Given the description of an element on the screen output the (x, y) to click on. 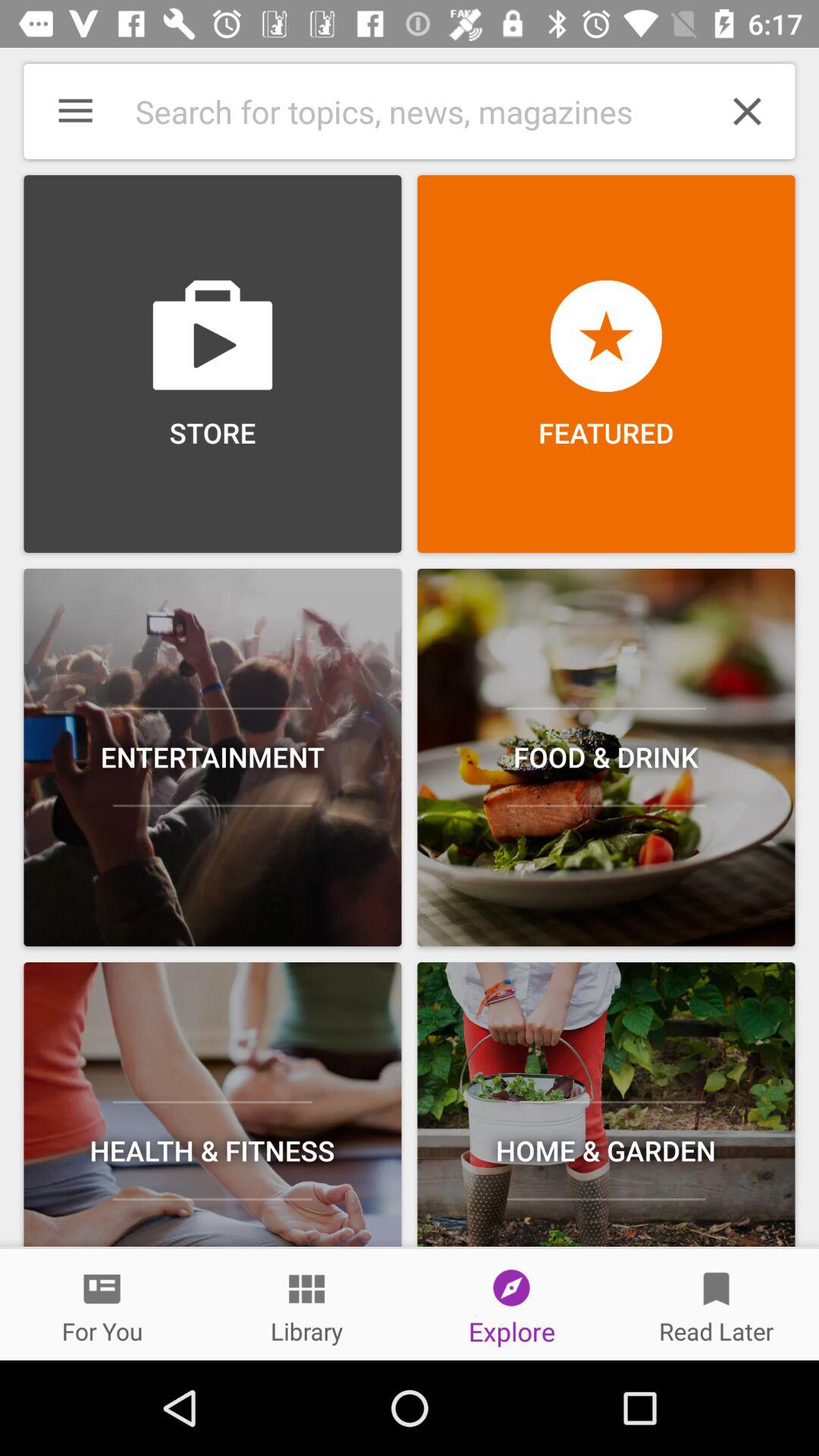
select option beside cross mark (401, 110)
select the button above library (307, 1288)
click on the icon above explore at the bottom (511, 1287)
click the close button on the web page (747, 111)
click on the star button above featured (606, 336)
